Given the description of an element on the screen output the (x, y) to click on. 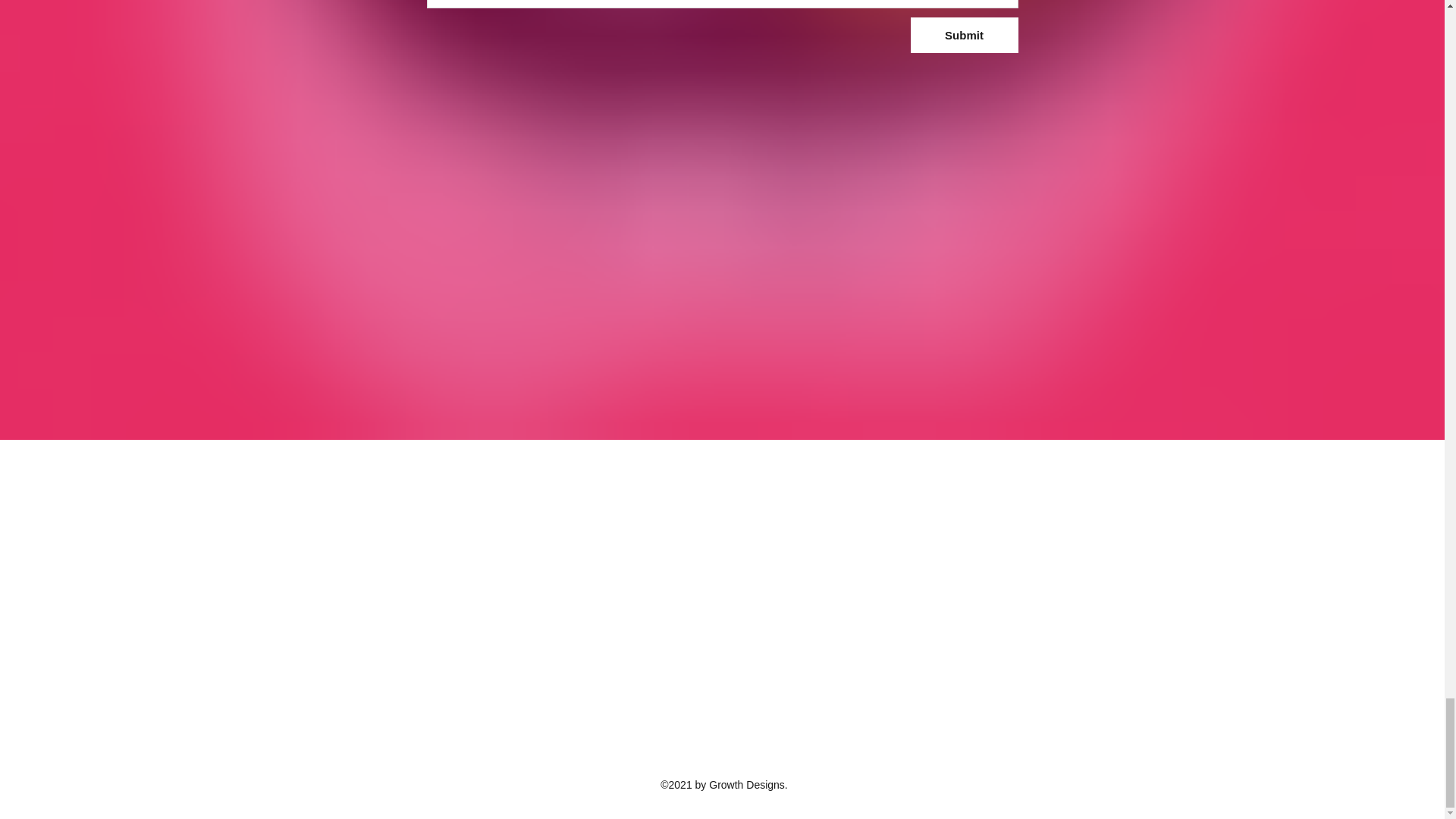
Submit (963, 35)
